Given the description of an element on the screen output the (x, y) to click on. 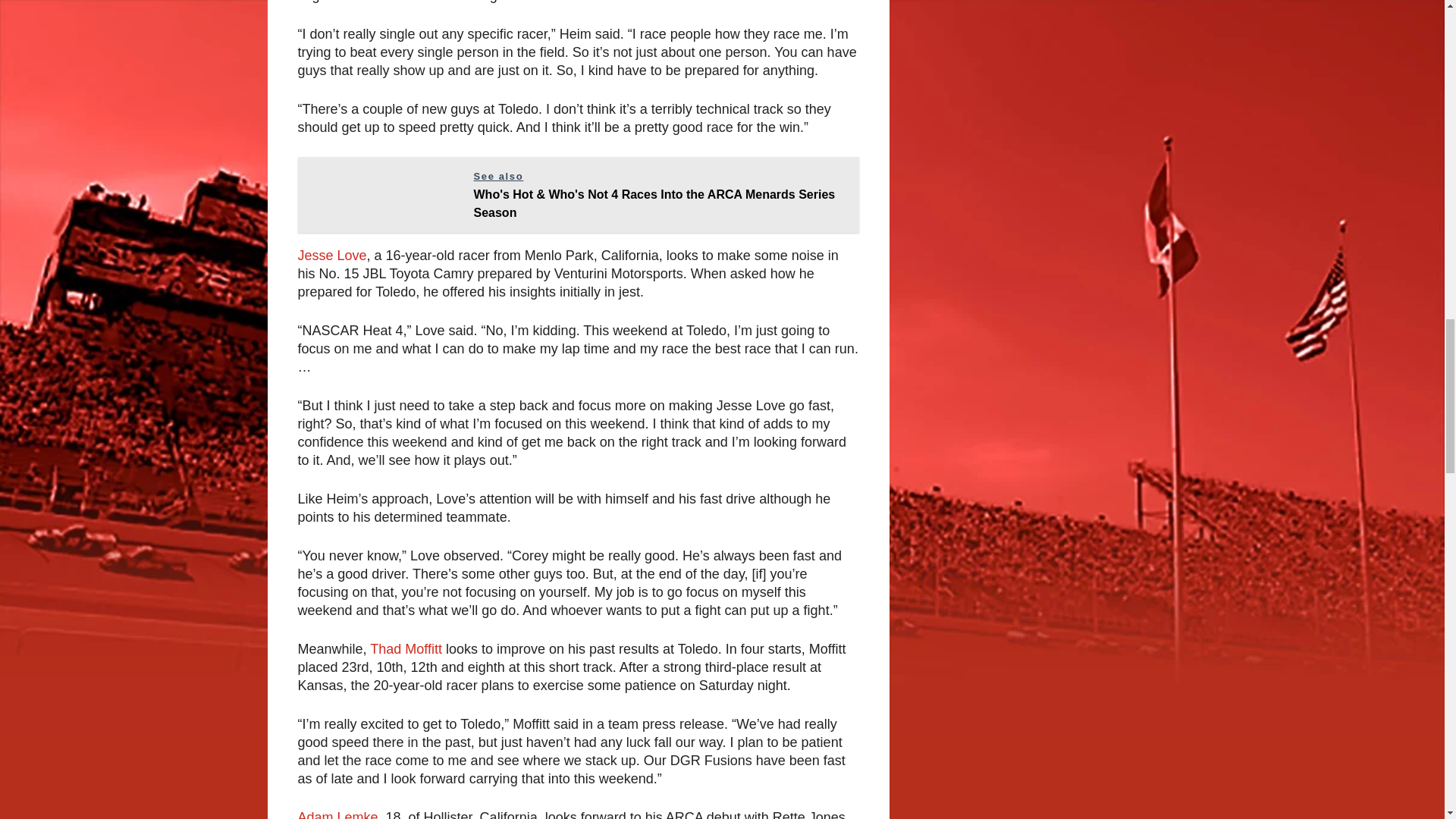
Thad Moffitt (405, 648)
Jesse Love (331, 255)
Adam Lemke (337, 814)
